Given the description of an element on the screen output the (x, y) to click on. 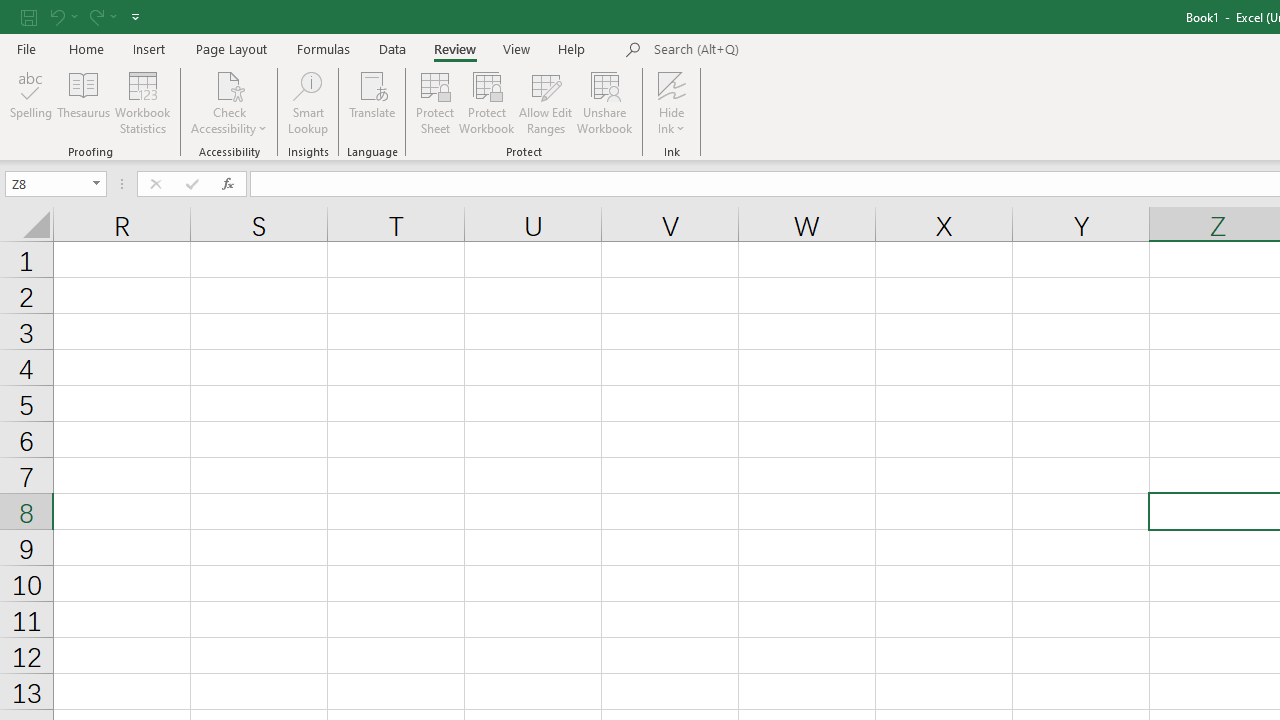
Protect Workbook... (486, 102)
Protect Sheet... (434, 102)
